Given the description of an element on the screen output the (x, y) to click on. 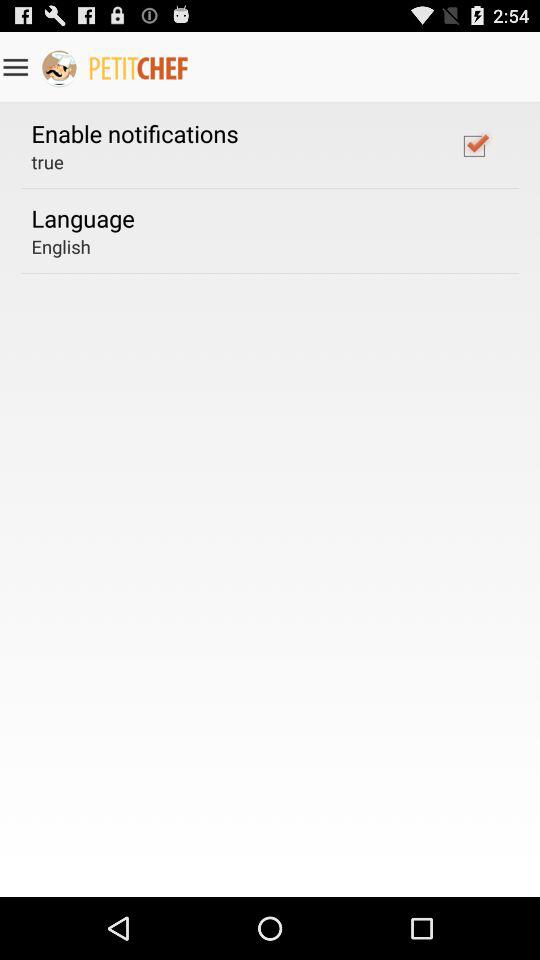
press the item above true app (134, 133)
